Given the description of an element on the screen output the (x, y) to click on. 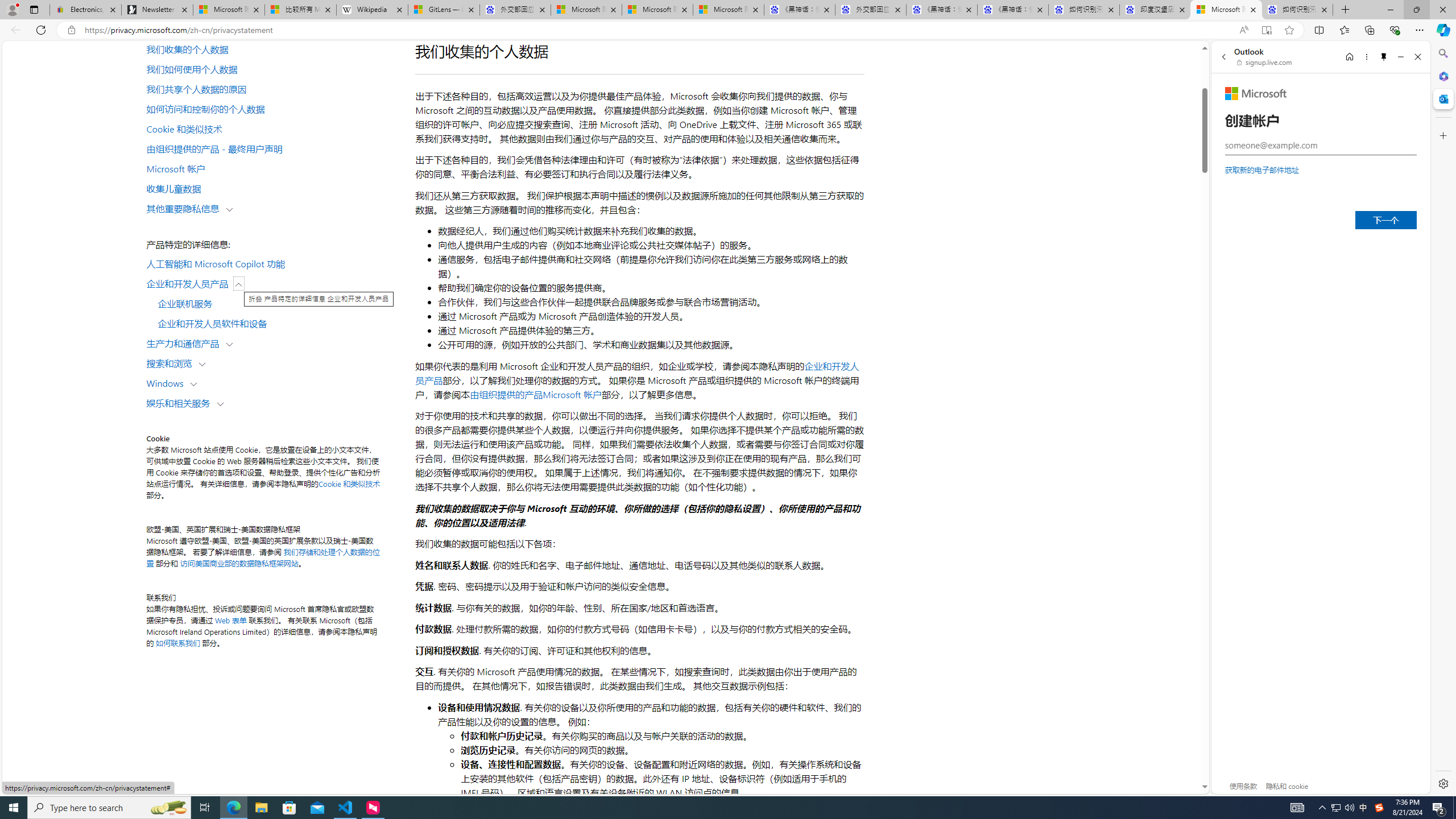
Wikipedia (372, 9)
signup.live.com (1264, 61)
Unpin side pane (1383, 56)
